Given the description of an element on the screen output the (x, y) to click on. 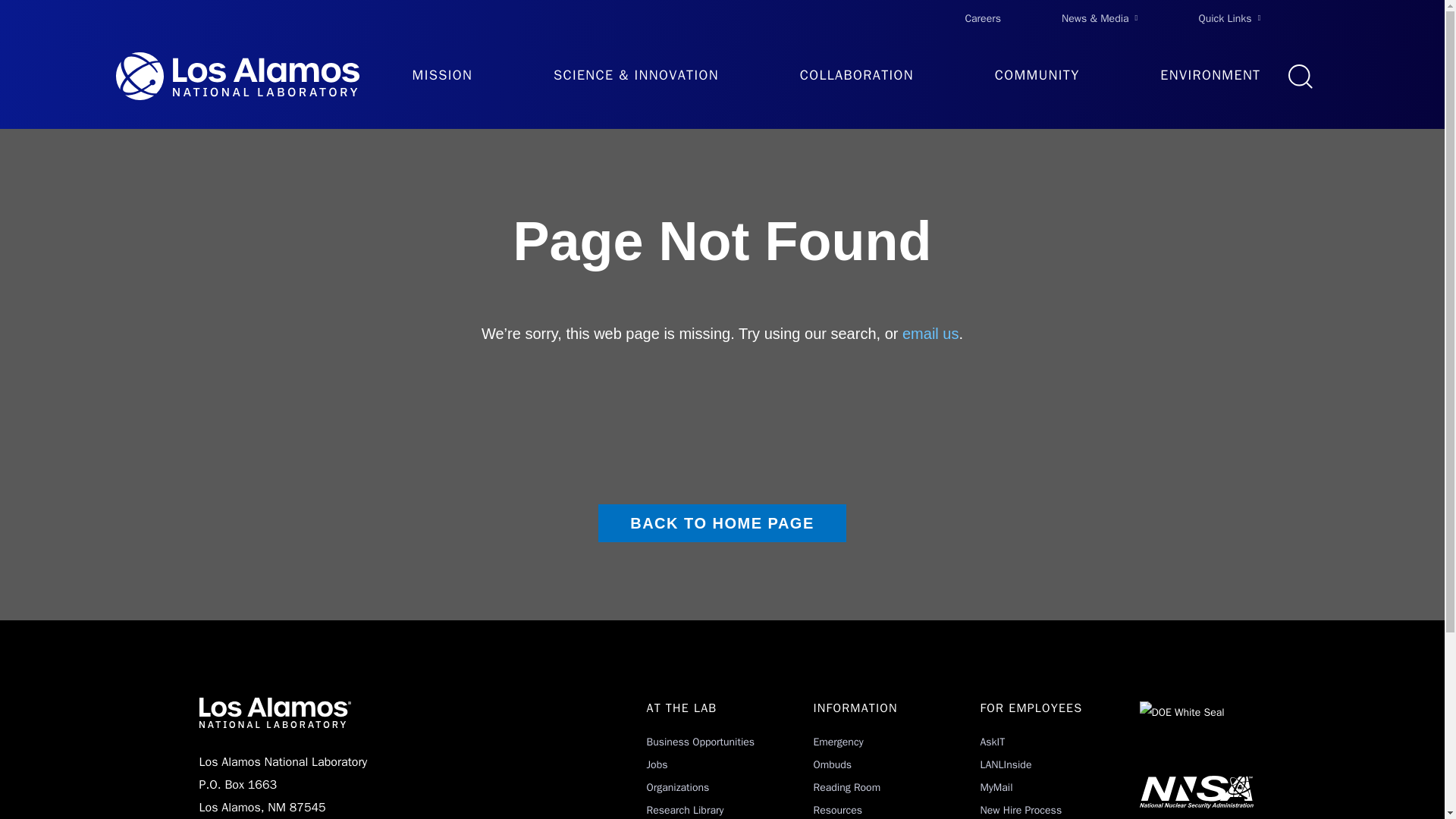
Jobs (656, 764)
Careers (982, 18)
Reading Room (846, 787)
Resources (836, 809)
Ombuds (831, 764)
email us (930, 333)
Research Library (684, 809)
Emergency (837, 741)
Organizations (677, 787)
AskIT (991, 741)
